Given the description of an element on the screen output the (x, y) to click on. 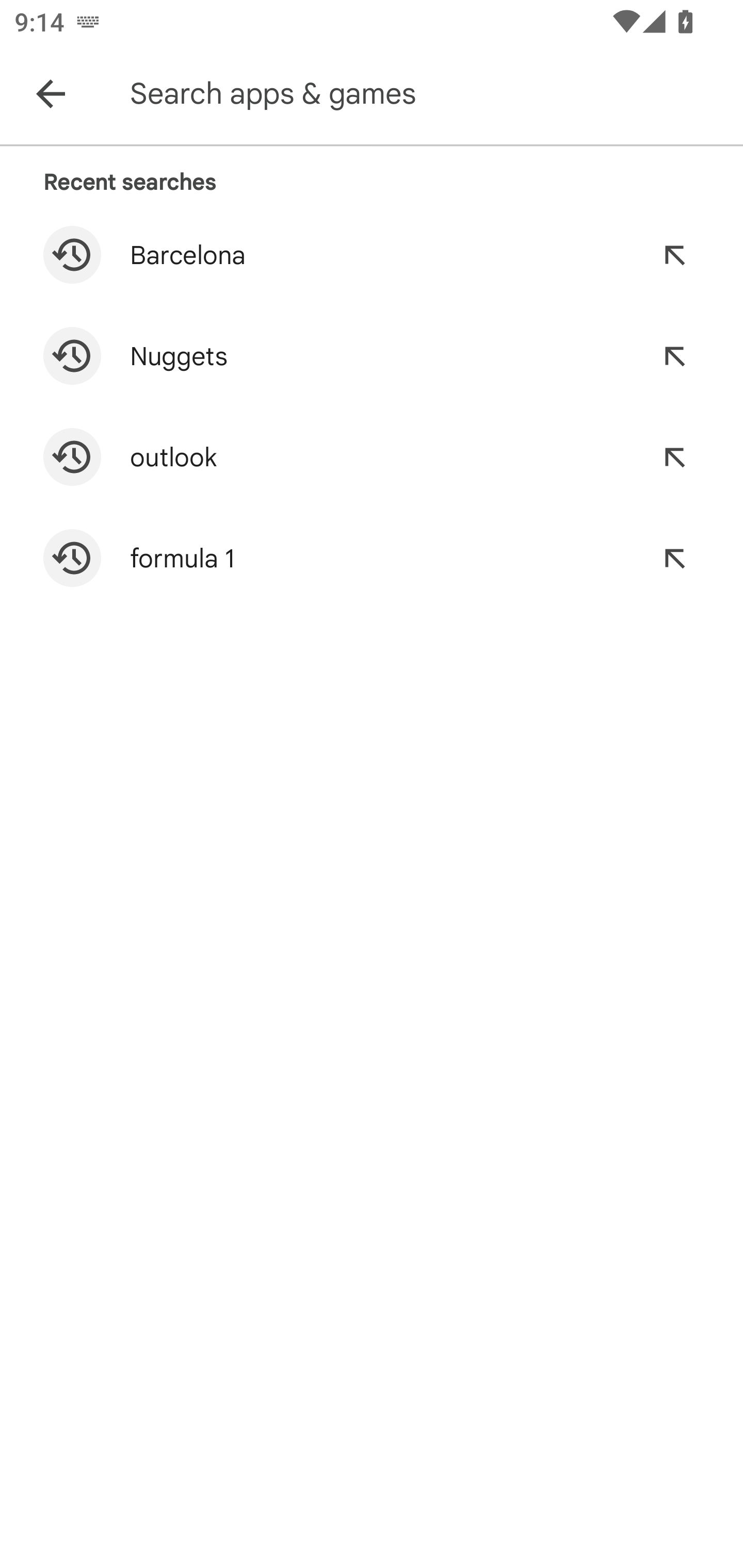
Navigate up (50, 93)
Search apps & games (432, 93)
Refine search to "Barcelona" (673, 254)
Search for "Nuggets"  Refine search to "Nuggets" (371, 355)
Refine search to "Nuggets" (673, 355)
Search for "outlook"  Refine search to "outlook" (371, 457)
Refine search to "outlook" (673, 457)
Refine search to "formula 1" (673, 558)
